Given the description of an element on the screen output the (x, y) to click on. 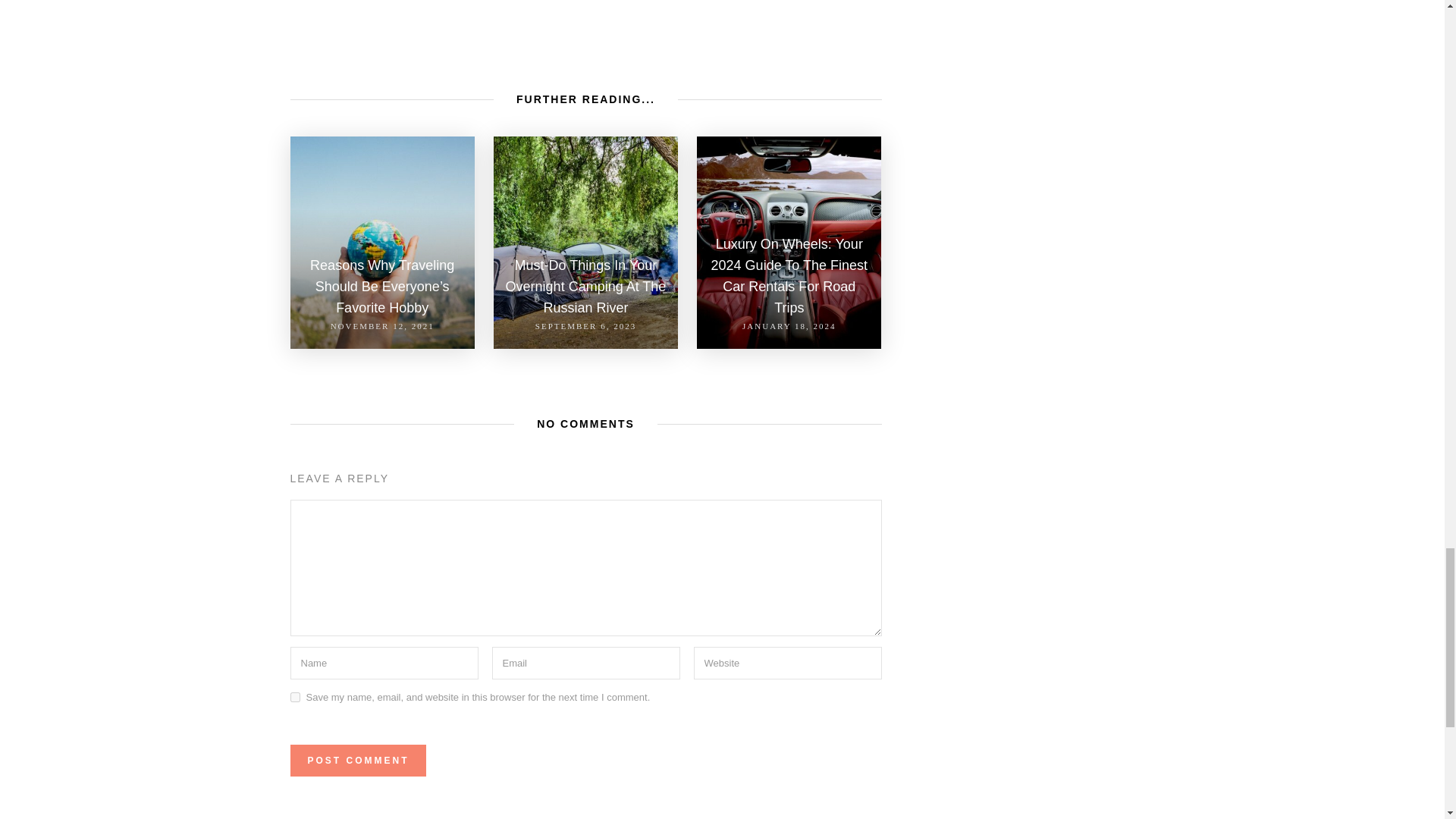
yes (294, 696)
Please wait until Google reCAPTCHA is loaded. (357, 760)
Post Comment (357, 760)
